Given the description of an element on the screen output the (x, y) to click on. 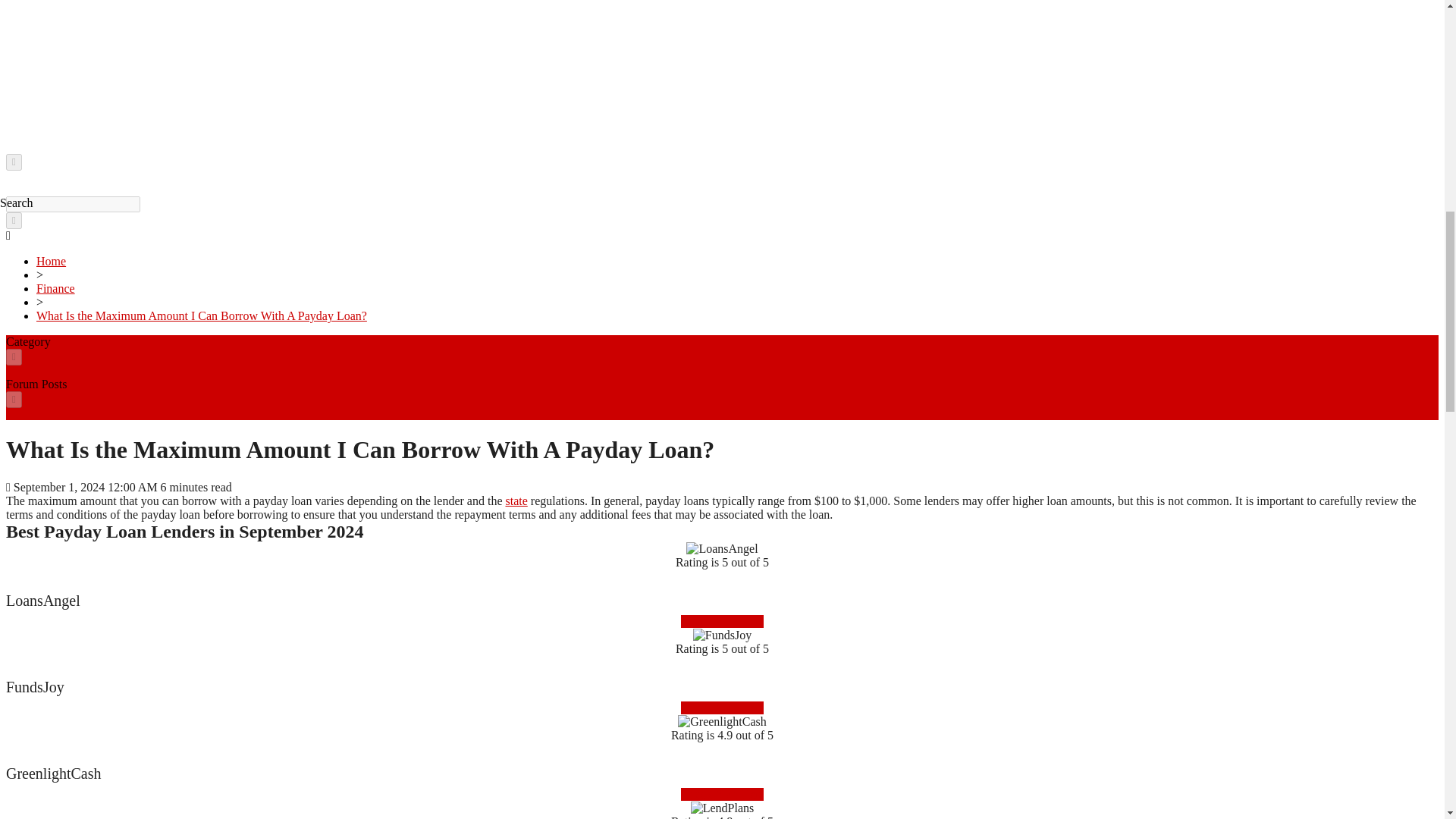
state (516, 500)
Check Your Rate (721, 707)
Check Your Rate (721, 621)
Home (50, 260)
What Is the Maximum Amount I Can Borrow With A Payday Loan? (201, 315)
Finance (55, 287)
Check Your Rate (721, 793)
